Given the description of an element on the screen output the (x, y) to click on. 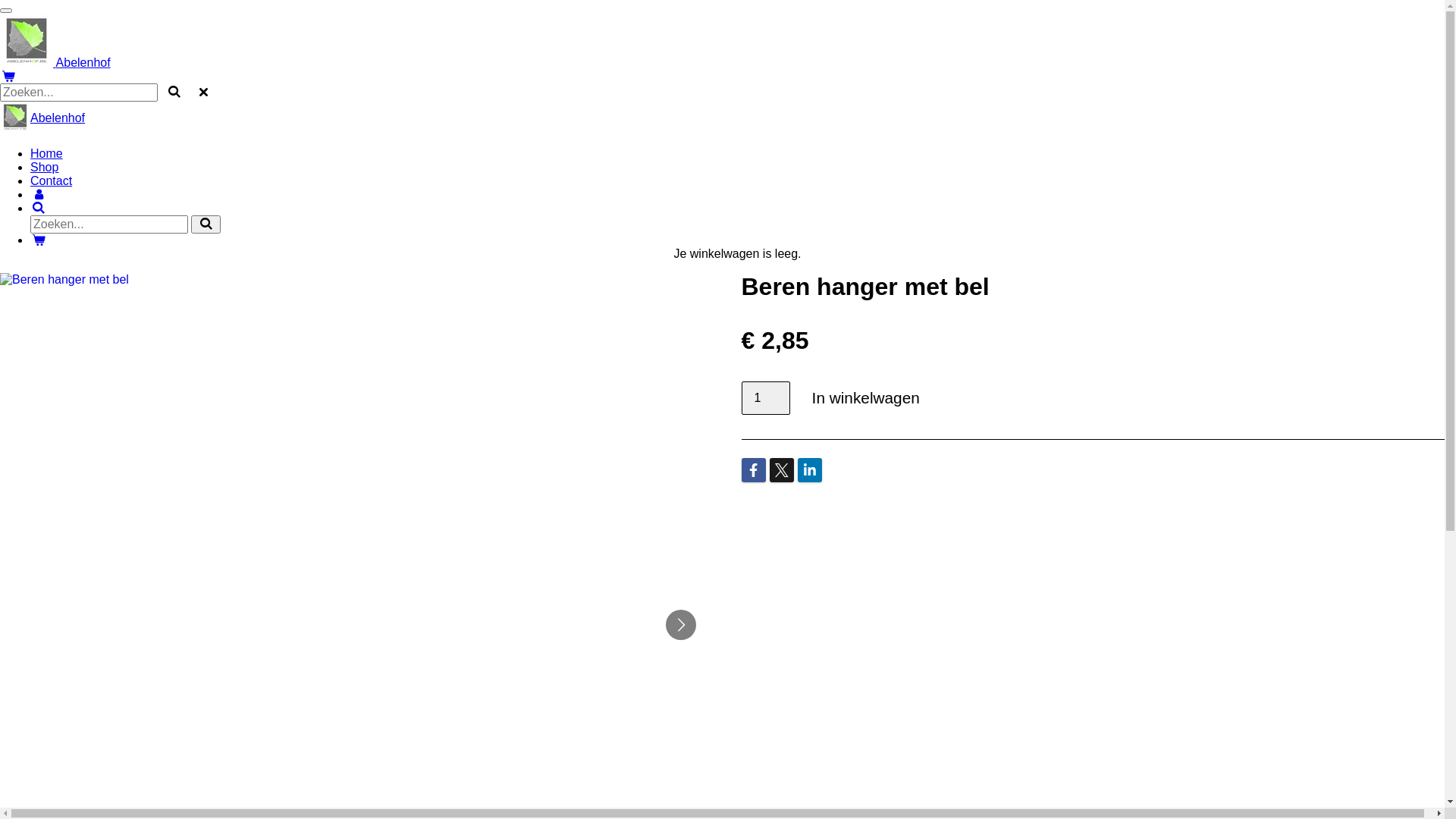
In winkelwagen Element type: text (865, 398)
Home Element type: text (46, 153)
Abelenhof Element type: hover (15, 116)
Bekijk winkelwagen Element type: hover (38, 239)
Abelenhof Element type: text (55, 62)
Zoeken Element type: hover (38, 207)
Contact Element type: text (51, 180)
Shop Element type: text (44, 166)
Account Element type: hover (38, 194)
Abelenhof Element type: text (57, 117)
Abelenhof Element type: hover (26, 39)
